Given the description of an element on the screen output the (x, y) to click on. 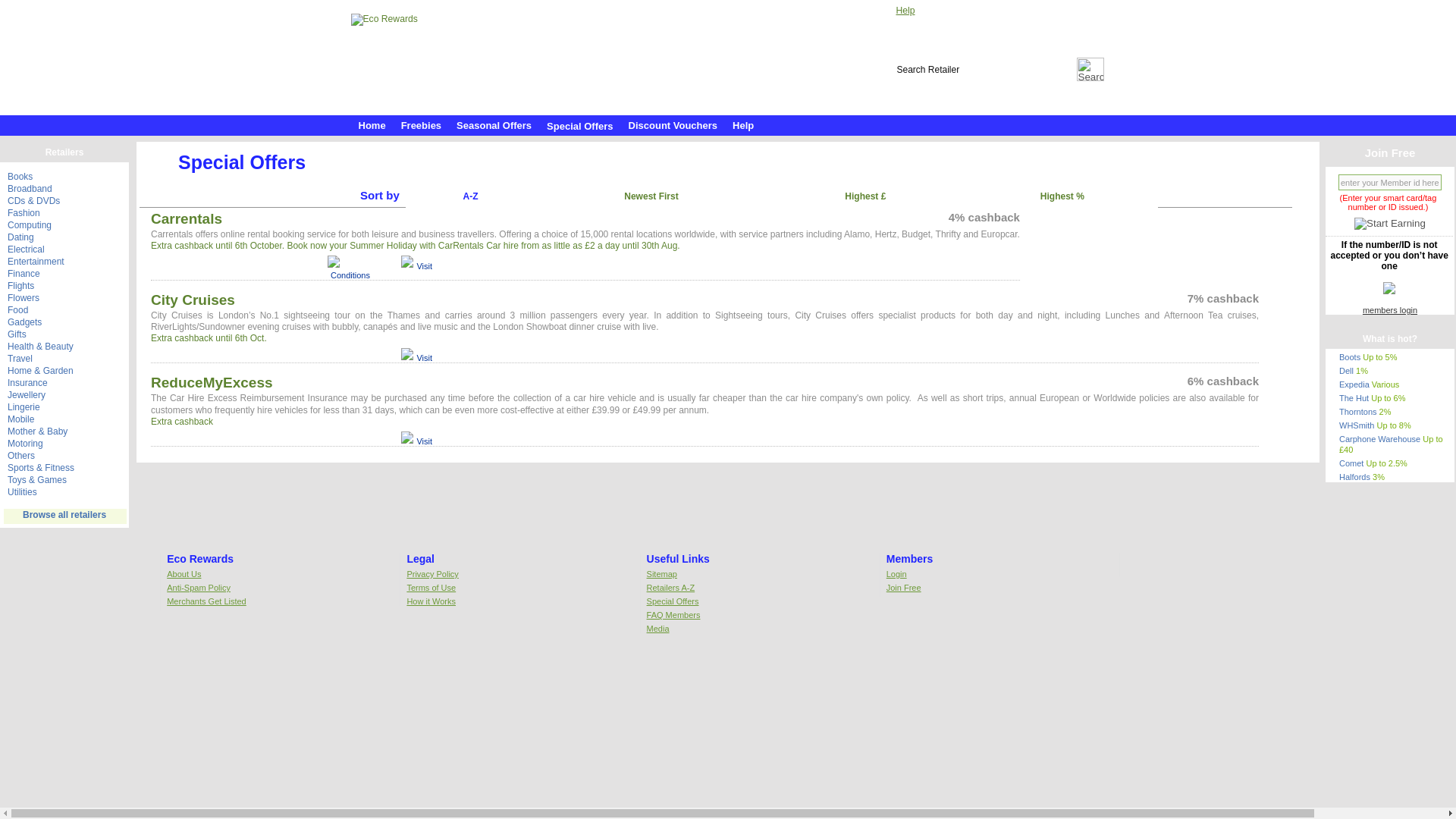
Sign-up FREE (973, 10)
Search (1090, 69)
Home (371, 123)
Seasonal Offers (493, 123)
A-Z (470, 199)
Flowers (23, 297)
Freebies (420, 123)
Finance (23, 273)
Electrical (26, 249)
Fashion (23, 213)
Flights (20, 285)
Discount Vouchers (673, 123)
ReduceMyExcess (212, 382)
Dating (20, 236)
Conditions (348, 275)
